Given the description of an element on the screen output the (x, y) to click on. 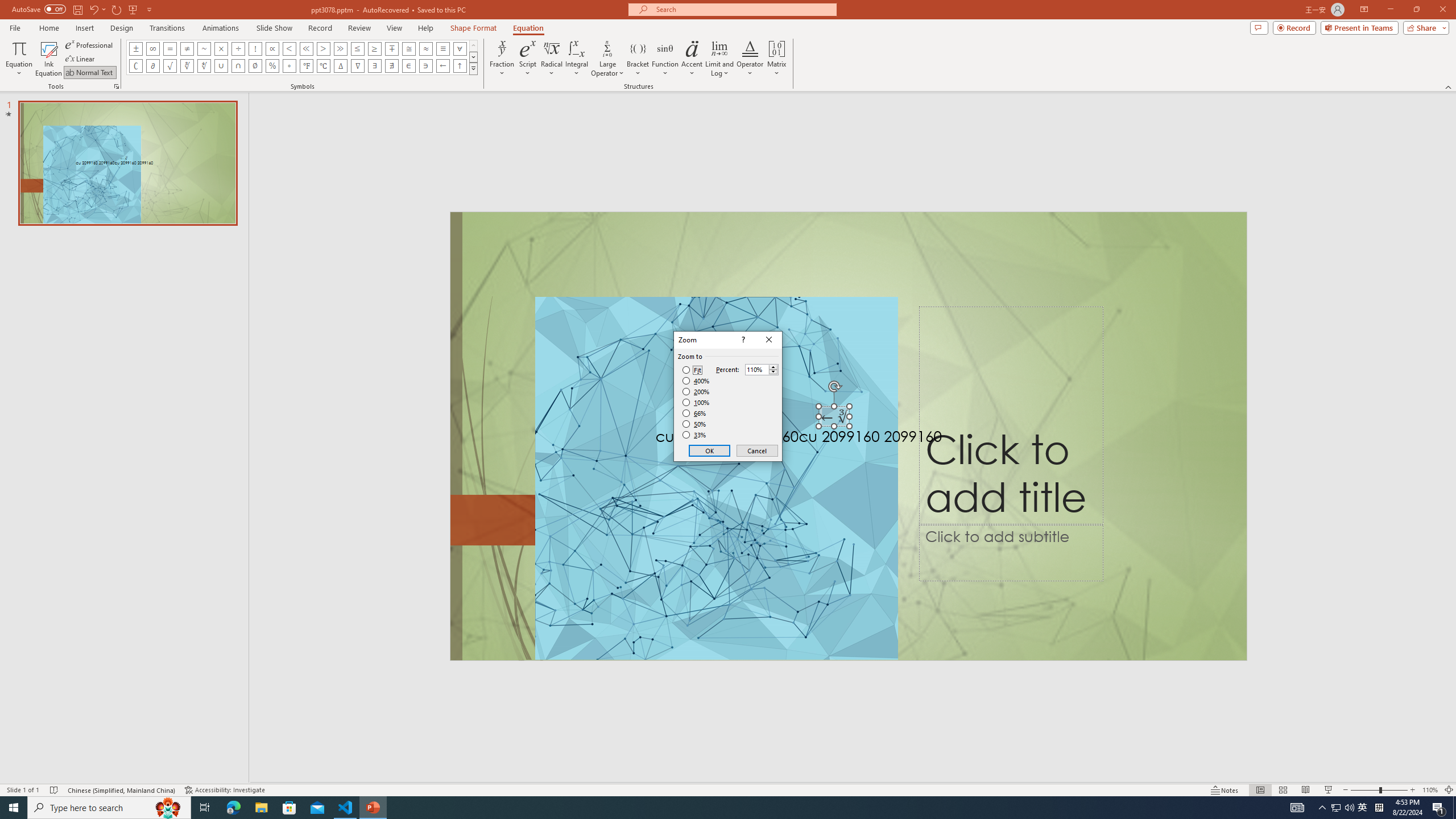
Equation Symbol Approximately Equal To (408, 48)
400% (696, 380)
AutomationID: EquationSymbolsInsertGallery (302, 57)
Normal Text (90, 72)
Radical (552, 58)
Equation Symbol Degrees Fahrenheit (306, 65)
Equation Symbol Less Than or Equal To (357, 48)
Function (664, 58)
100% (696, 402)
